Given the description of an element on the screen output the (x, y) to click on. 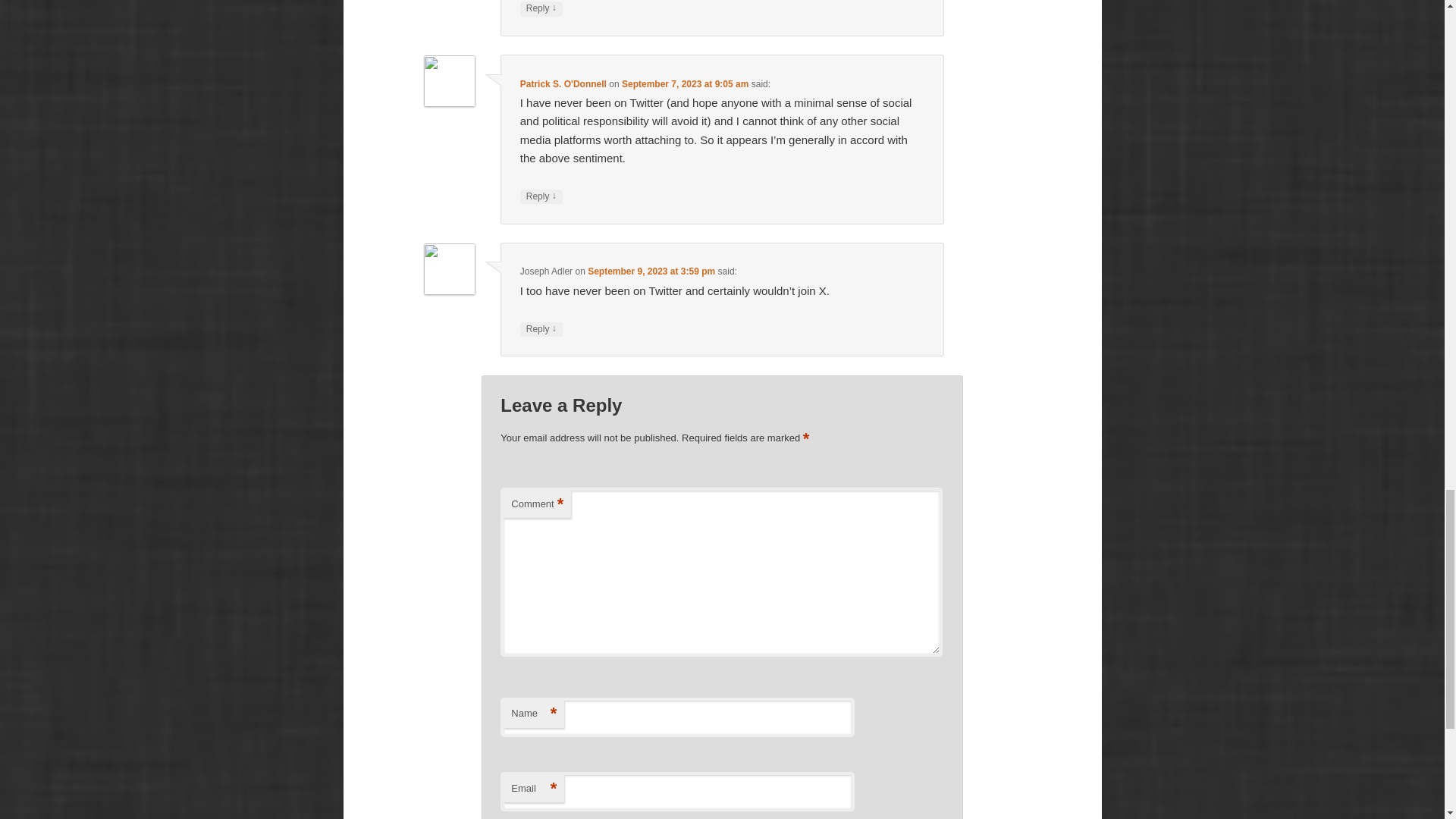
September 7, 2023 at 9:05 am (684, 83)
September 9, 2023 at 3:59 pm (651, 271)
Patrick S. O'Donnell (563, 83)
